Given the description of an element on the screen output the (x, y) to click on. 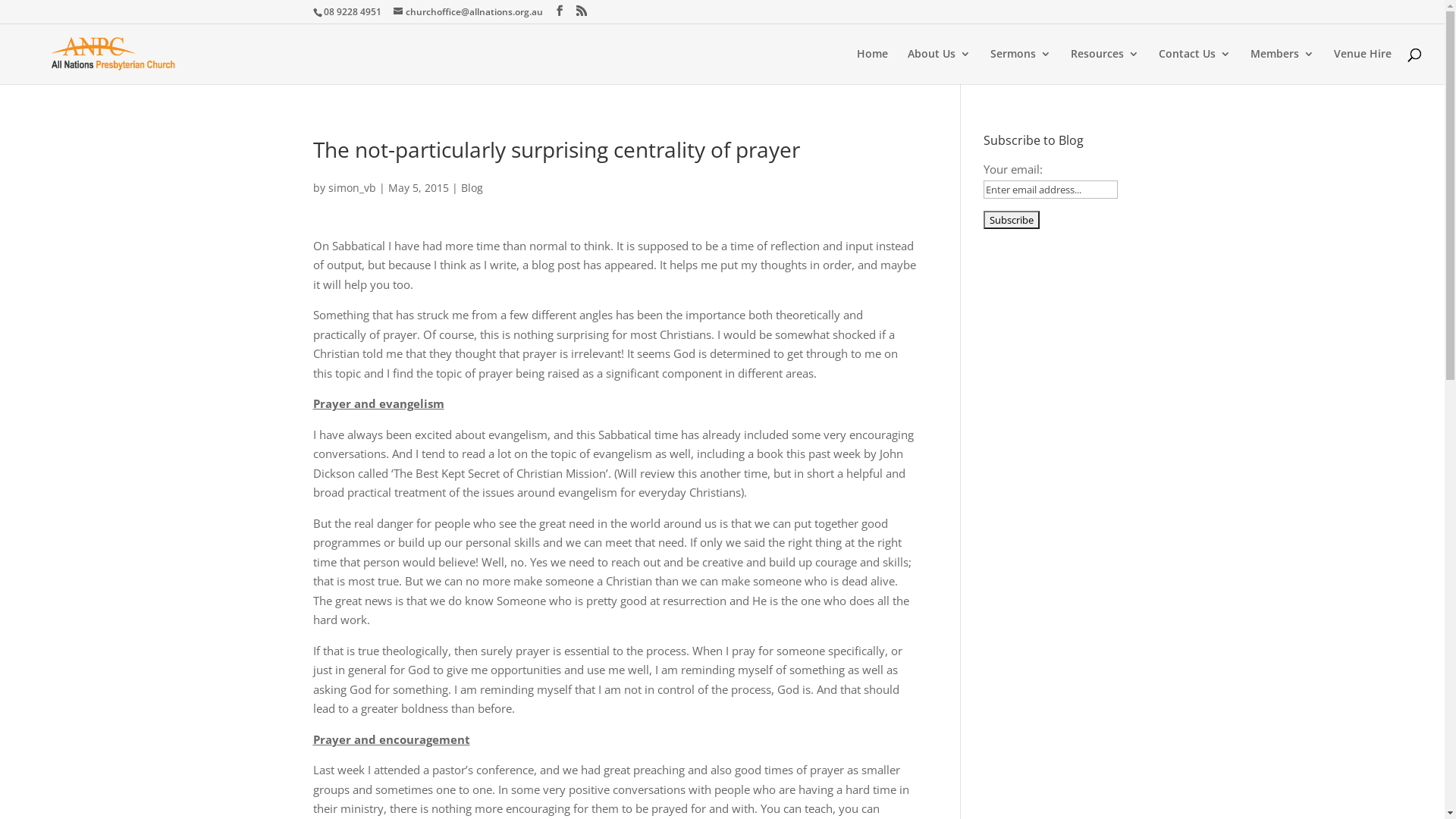
Home Element type: text (872, 66)
Members Element type: text (1282, 66)
simon_vb Element type: text (351, 187)
Venue Hire Element type: text (1362, 66)
Contact Us Element type: text (1194, 66)
Subscribe Element type: text (1011, 219)
churchoffice@allnations.org.au Element type: text (467, 11)
Sermons Element type: text (1020, 66)
About Us Element type: text (938, 66)
Resources Element type: text (1104, 66)
Blog Element type: text (472, 187)
